Given the description of an element on the screen output the (x, y) to click on. 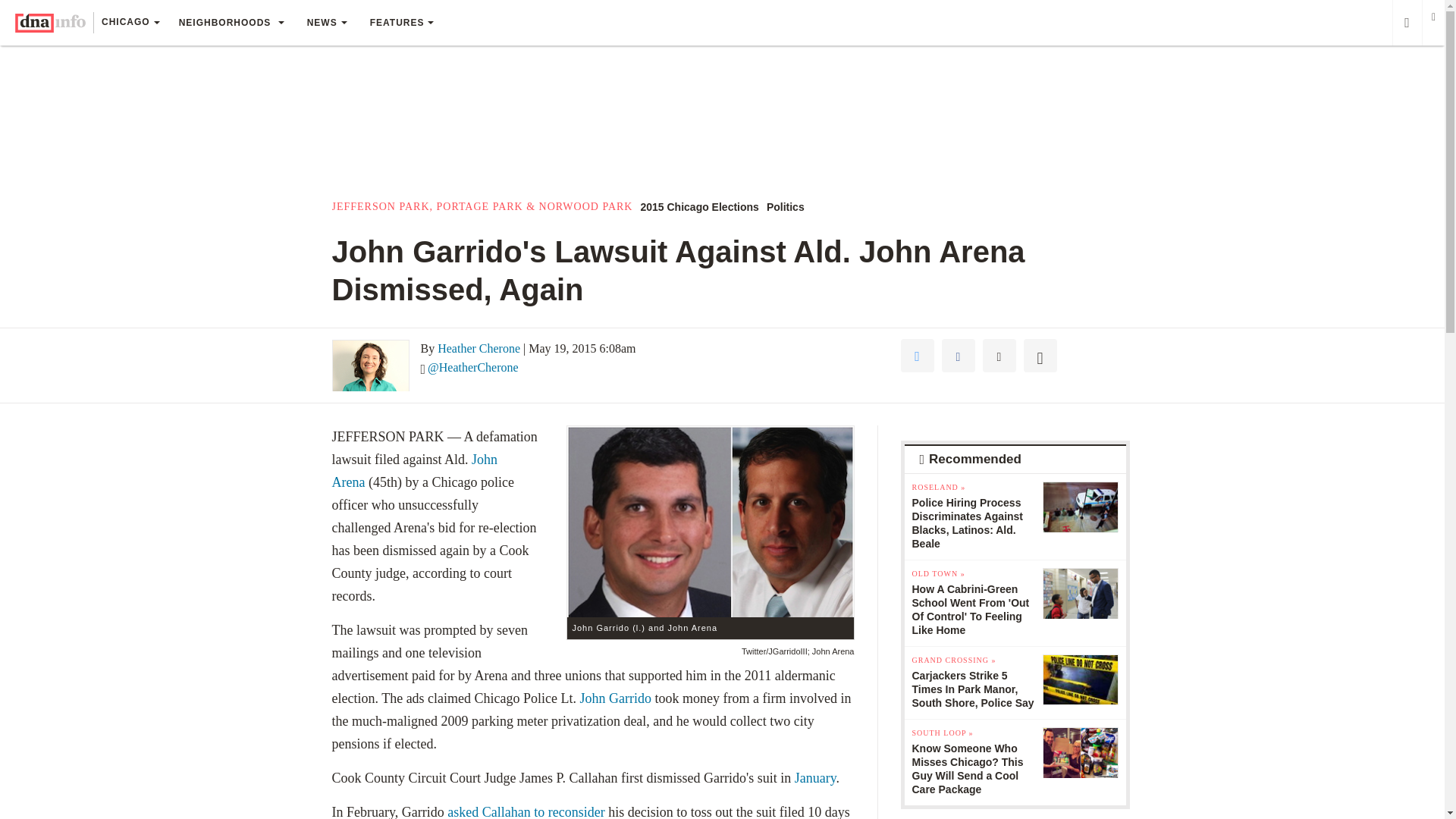
CHICAGO (130, 23)
NEIGHBORHOODS (231, 22)
FEATURES (401, 22)
NEWS (326, 22)
Chicago - Home (49, 22)
